Given the description of an element on the screen output the (x, y) to click on. 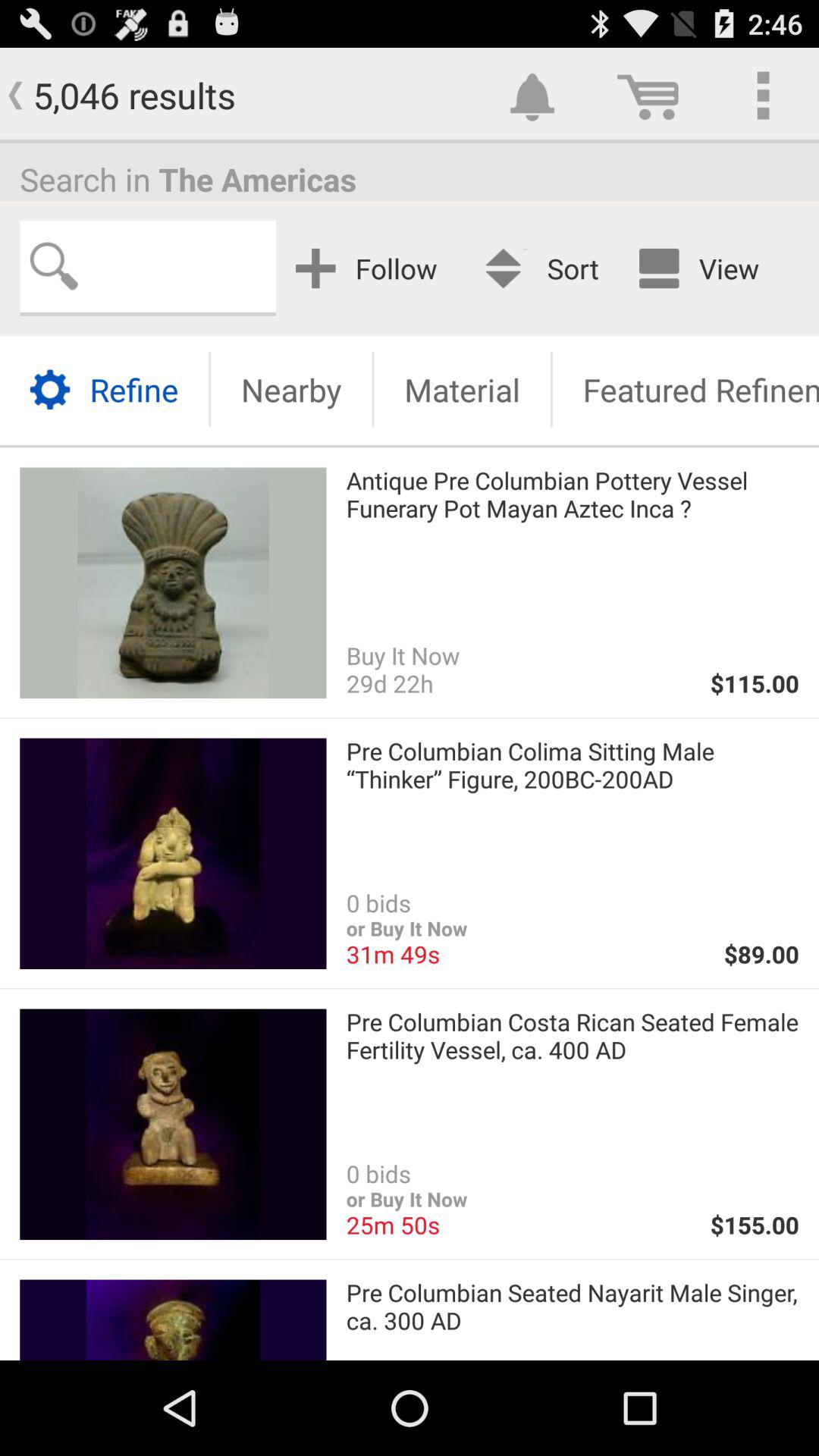
jump to follow icon (371, 268)
